Given the description of an element on the screen output the (x, y) to click on. 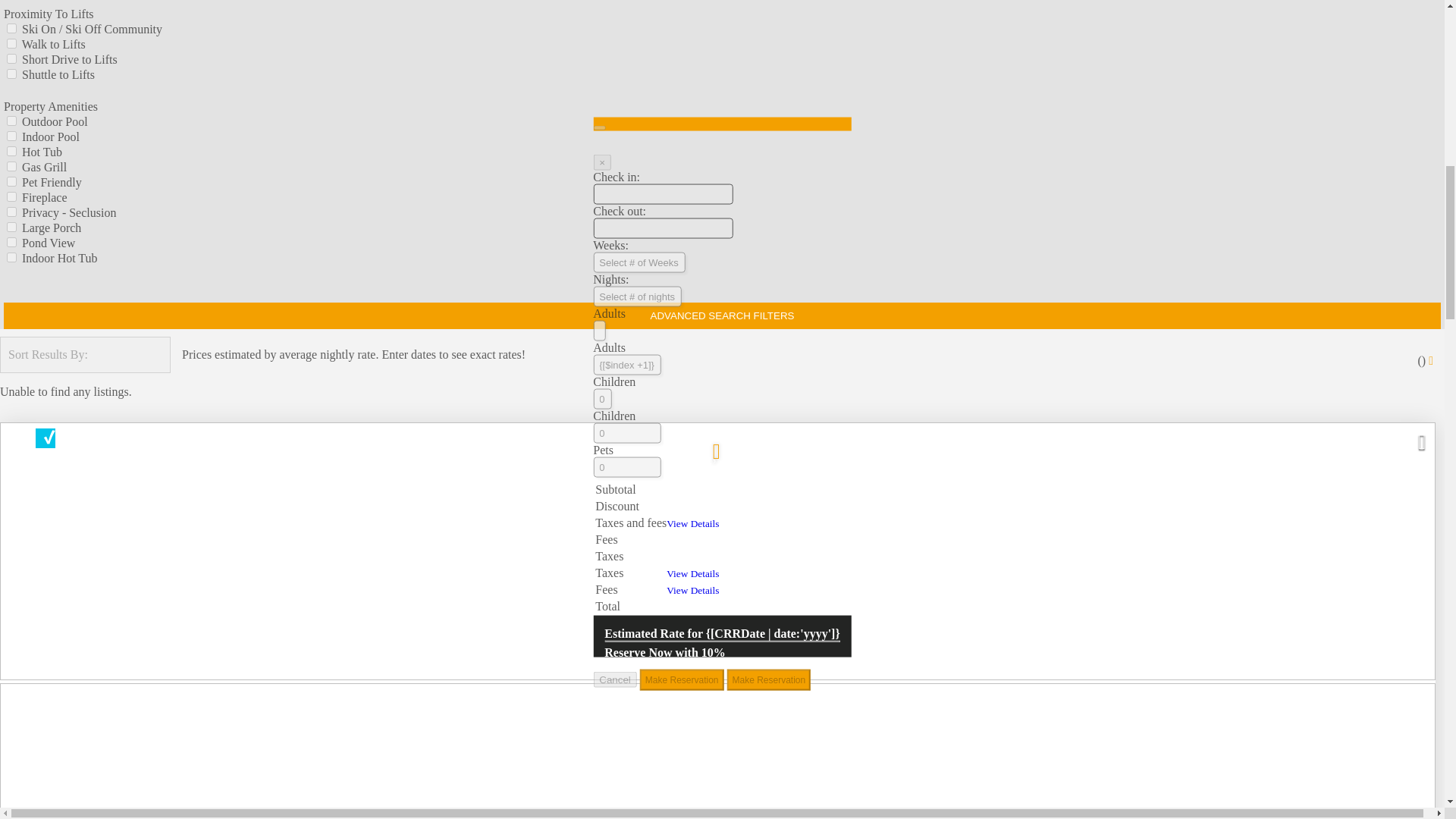
on (11, 28)
on (11, 151)
on (11, 73)
on (11, 212)
on (11, 43)
on (11, 121)
on (11, 166)
on (11, 58)
on (11, 135)
Add to favorites (715, 447)
on (11, 196)
on (11, 181)
Add to Unit Compare (44, 437)
